Given the description of an element on the screen output the (x, y) to click on. 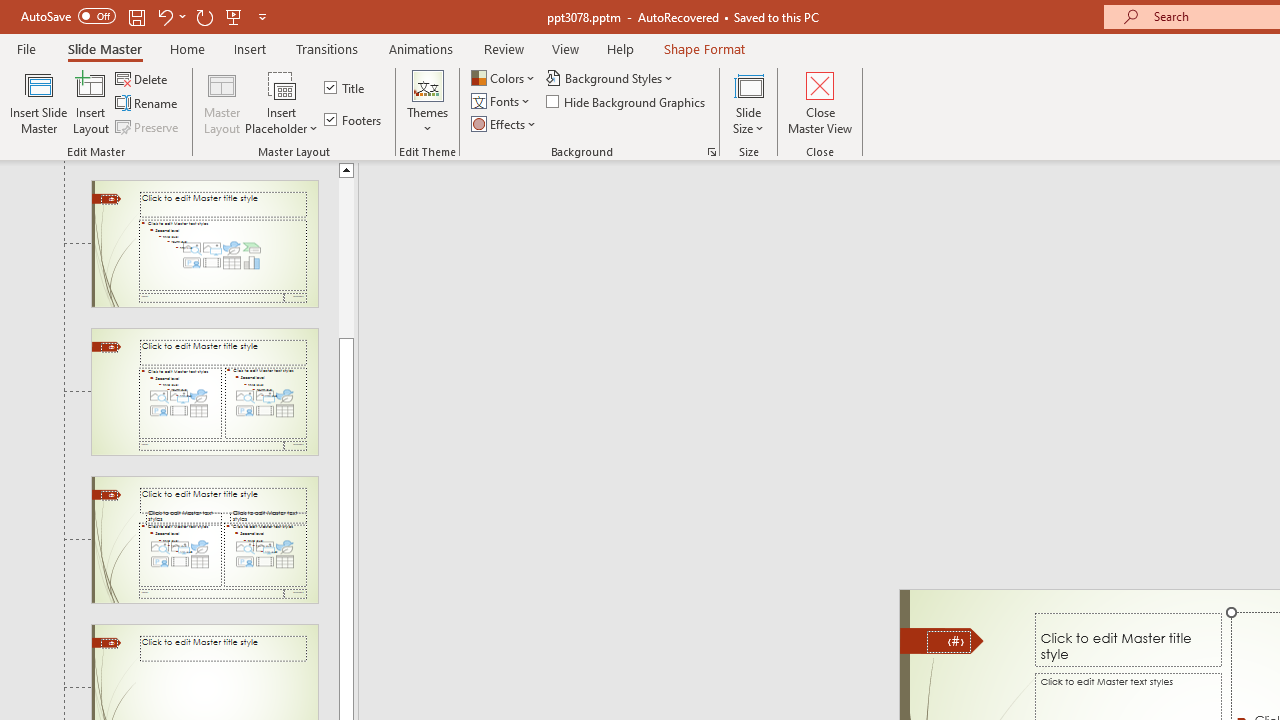
Content (282, 84)
Undo (170, 15)
Fonts (502, 101)
Slide Size (749, 102)
Line up (345, 169)
Effects (505, 124)
Slide Comparison Layout: used by no slides (204, 539)
Insert (250, 48)
Help (620, 48)
Delete (143, 78)
Insert Layout (91, 102)
Slide Two Content Layout: used by no slides (204, 392)
Home (187, 48)
System (10, 11)
Footers (354, 119)
